Given the description of an element on the screen output the (x, y) to click on. 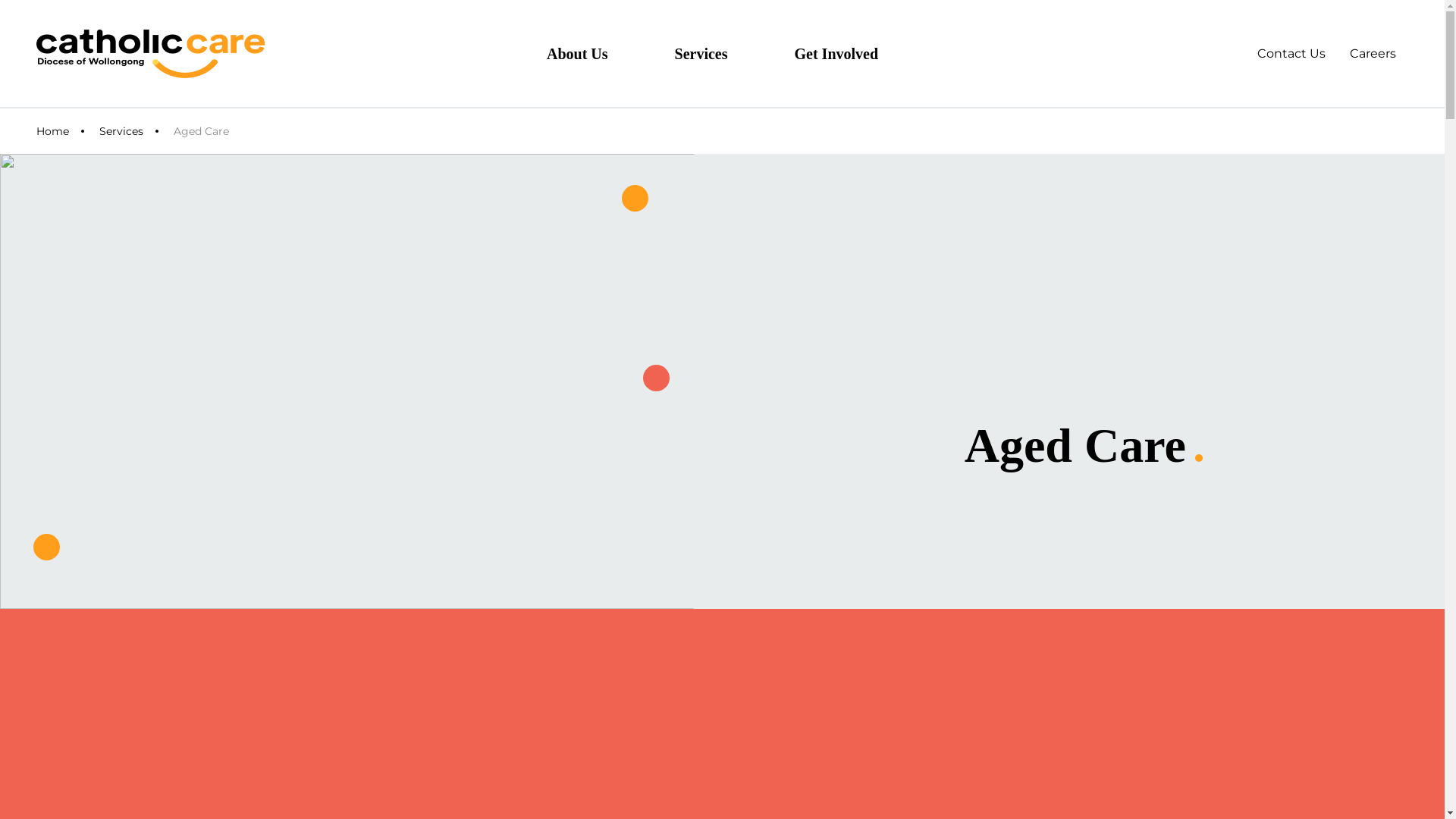
Services Element type: text (121, 131)
Home Element type: text (52, 131)
Careers Element type: text (1372, 52)
Contact Us Element type: text (1291, 52)
Services Element type: text (713, 53)
Get Involved Element type: text (848, 53)
About Us Element type: text (589, 53)
